Given the description of an element on the screen output the (x, y) to click on. 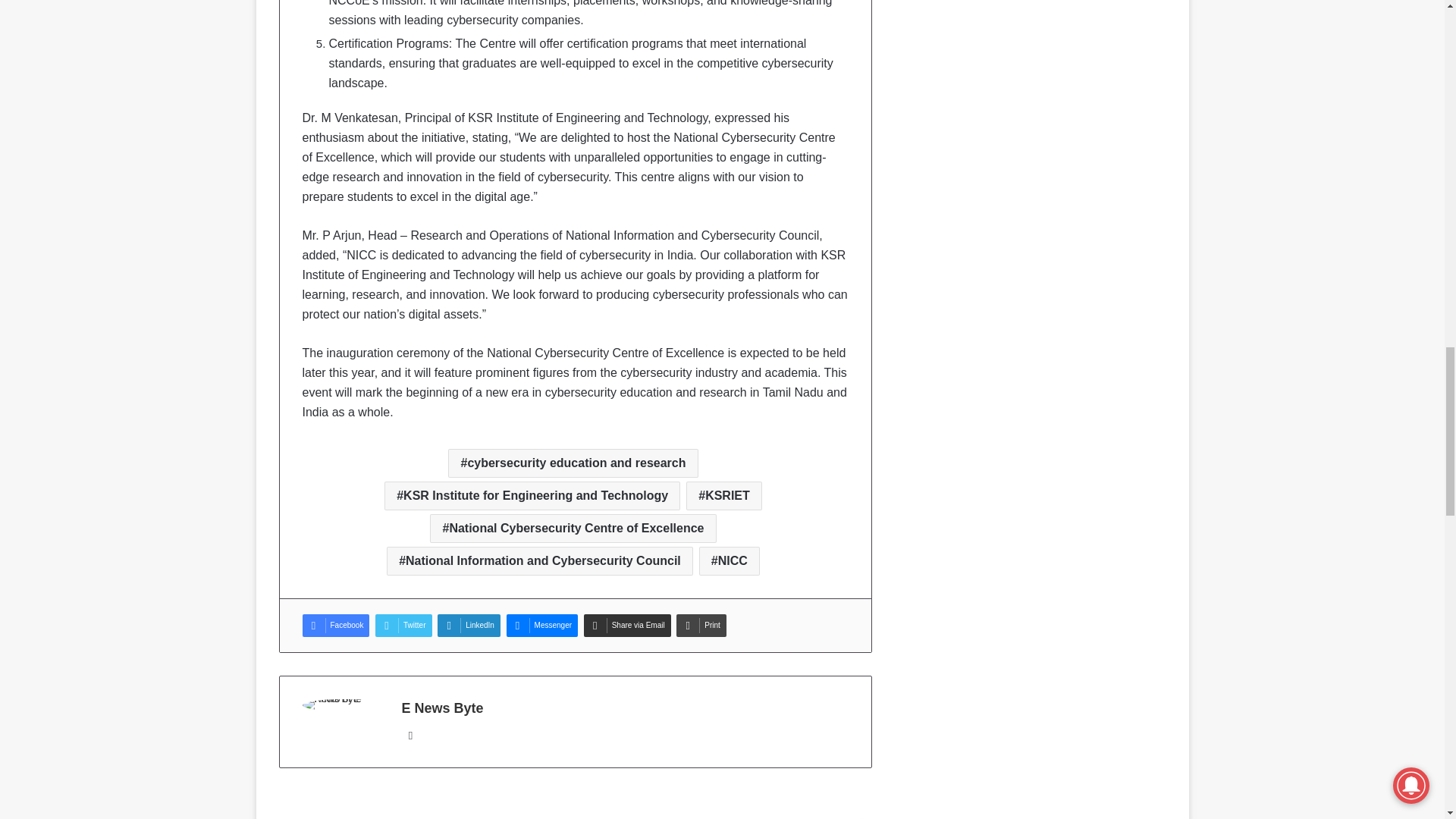
LinkedIn (469, 625)
Share via Email (627, 625)
Print (701, 625)
Twitter (402, 625)
Messenger (542, 625)
Facebook (335, 625)
